Given the description of an element on the screen output the (x, y) to click on. 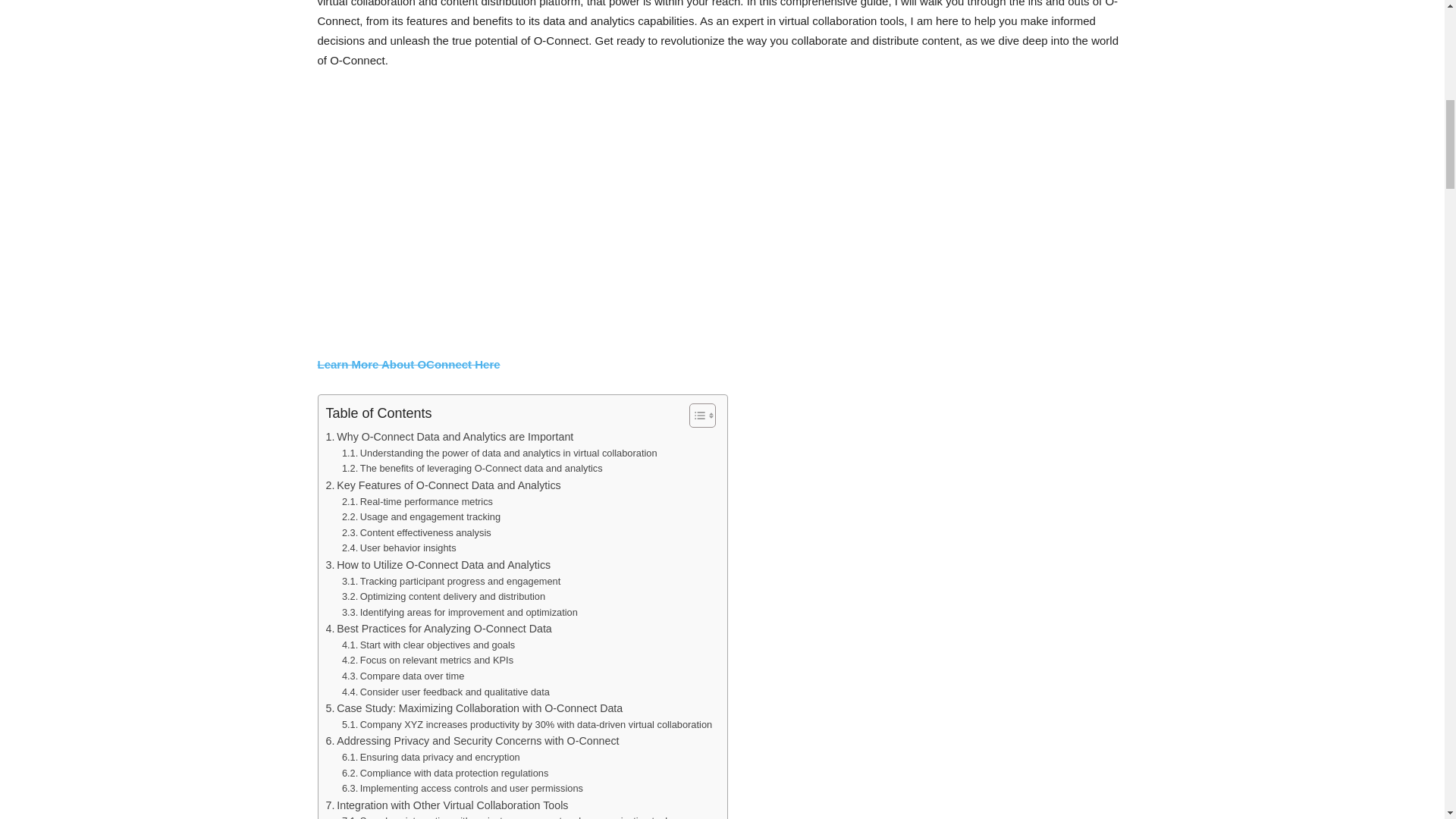
The benefits of leveraging O-Connect data and analytics (472, 468)
Content effectiveness analysis (417, 533)
Why O-Connect Data and Analytics are Important (449, 436)
Real-time performance metrics (417, 502)
How to Utilize O-Connect Data and Analytics (438, 565)
The benefits of leveraging O-Connect data and analytics (472, 468)
Usage and engagement tracking (421, 517)
Usage and engagement tracking (421, 517)
Tracking participant progress and engagement (451, 581)
